Given the description of an element on the screen output the (x, y) to click on. 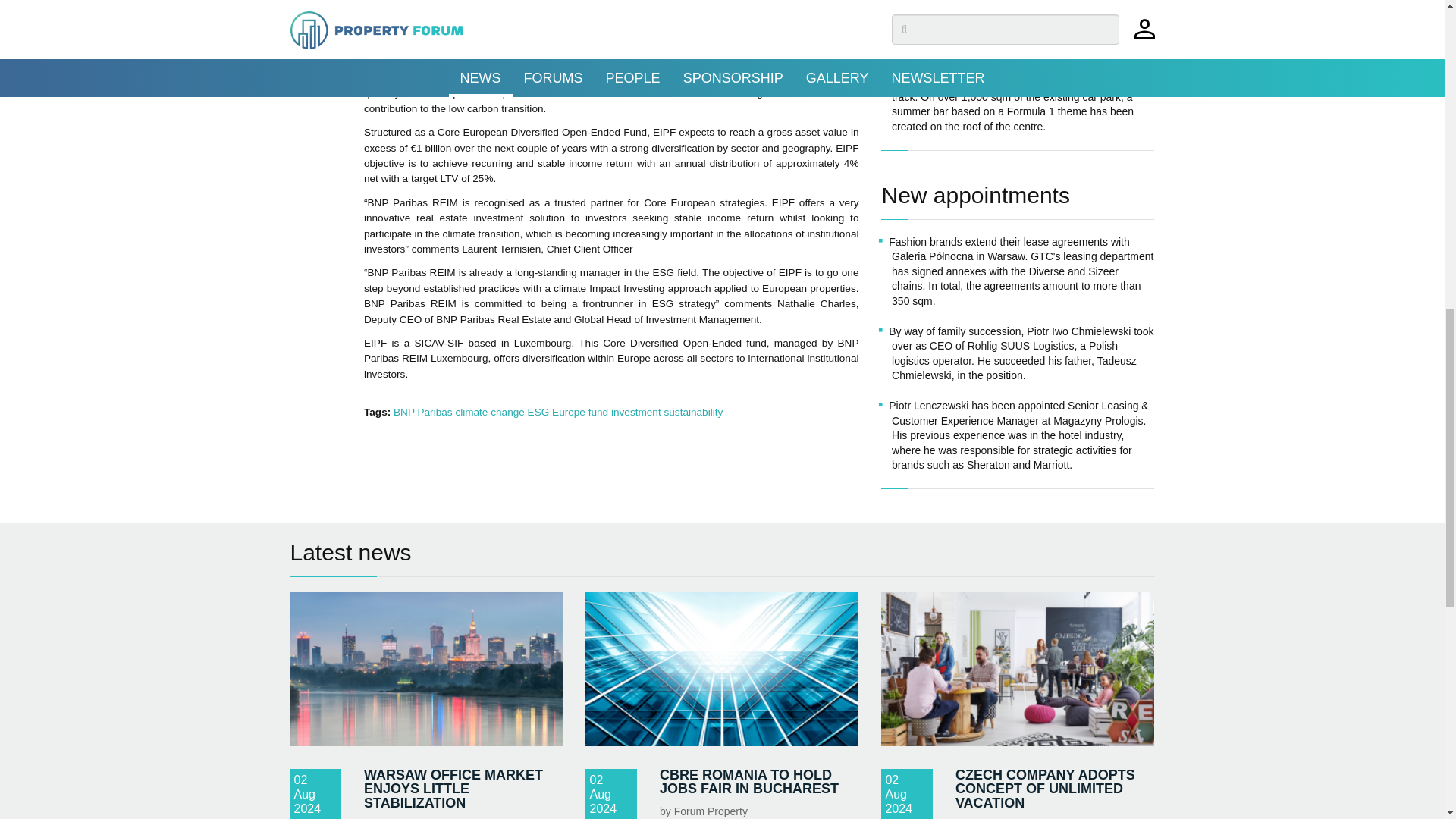
BNP Paribas (422, 411)
